Given the description of an element on the screen output the (x, y) to click on. 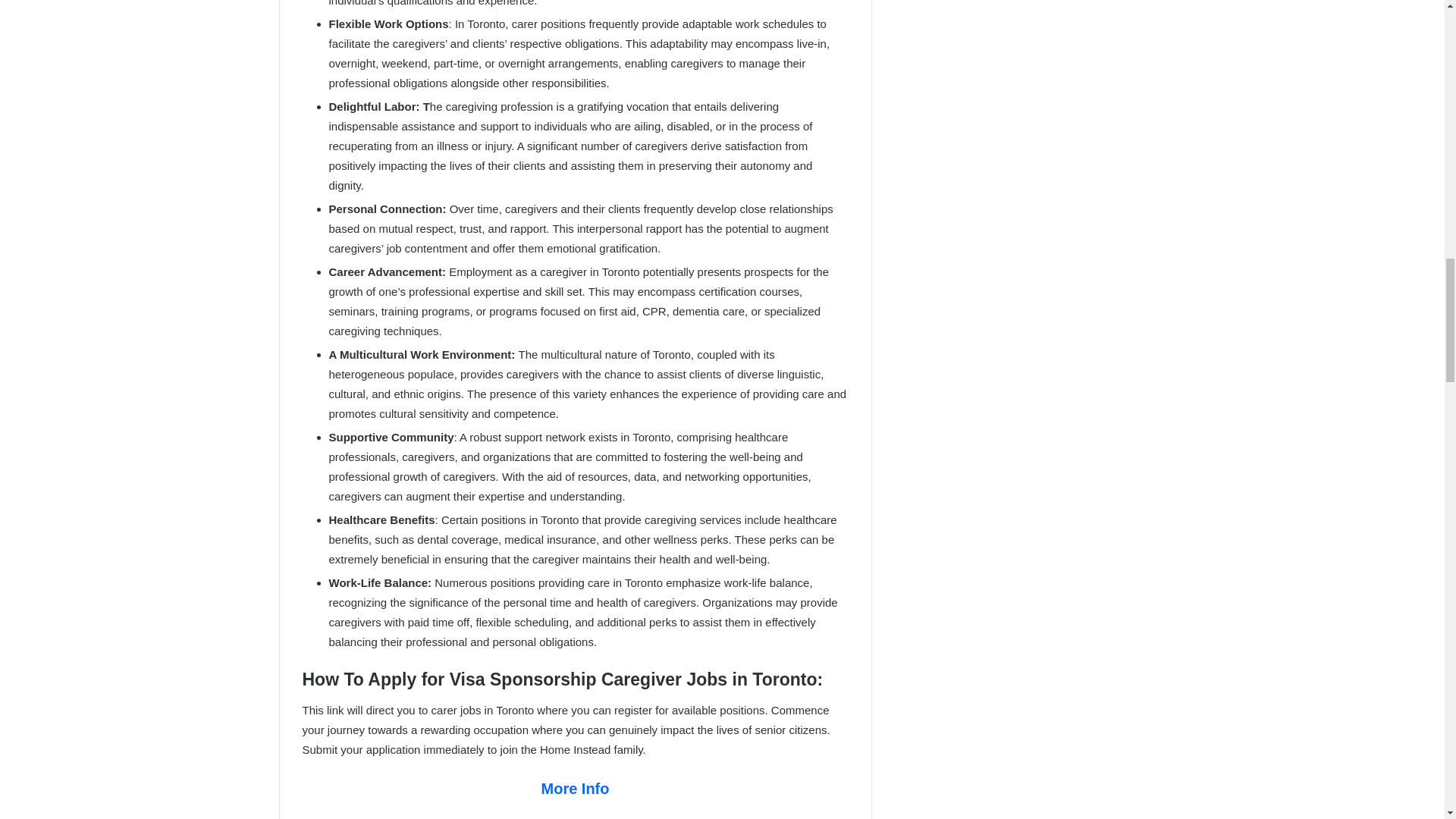
More Info (575, 788)
